Given the description of an element on the screen output the (x, y) to click on. 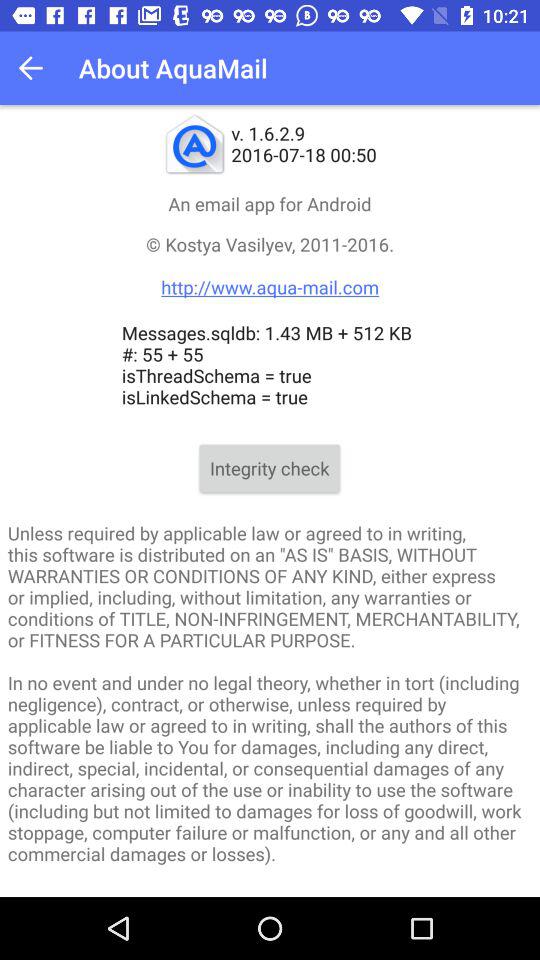
flip until the third party licenses item (269, 891)
